Given the description of an element on the screen output the (x, y) to click on. 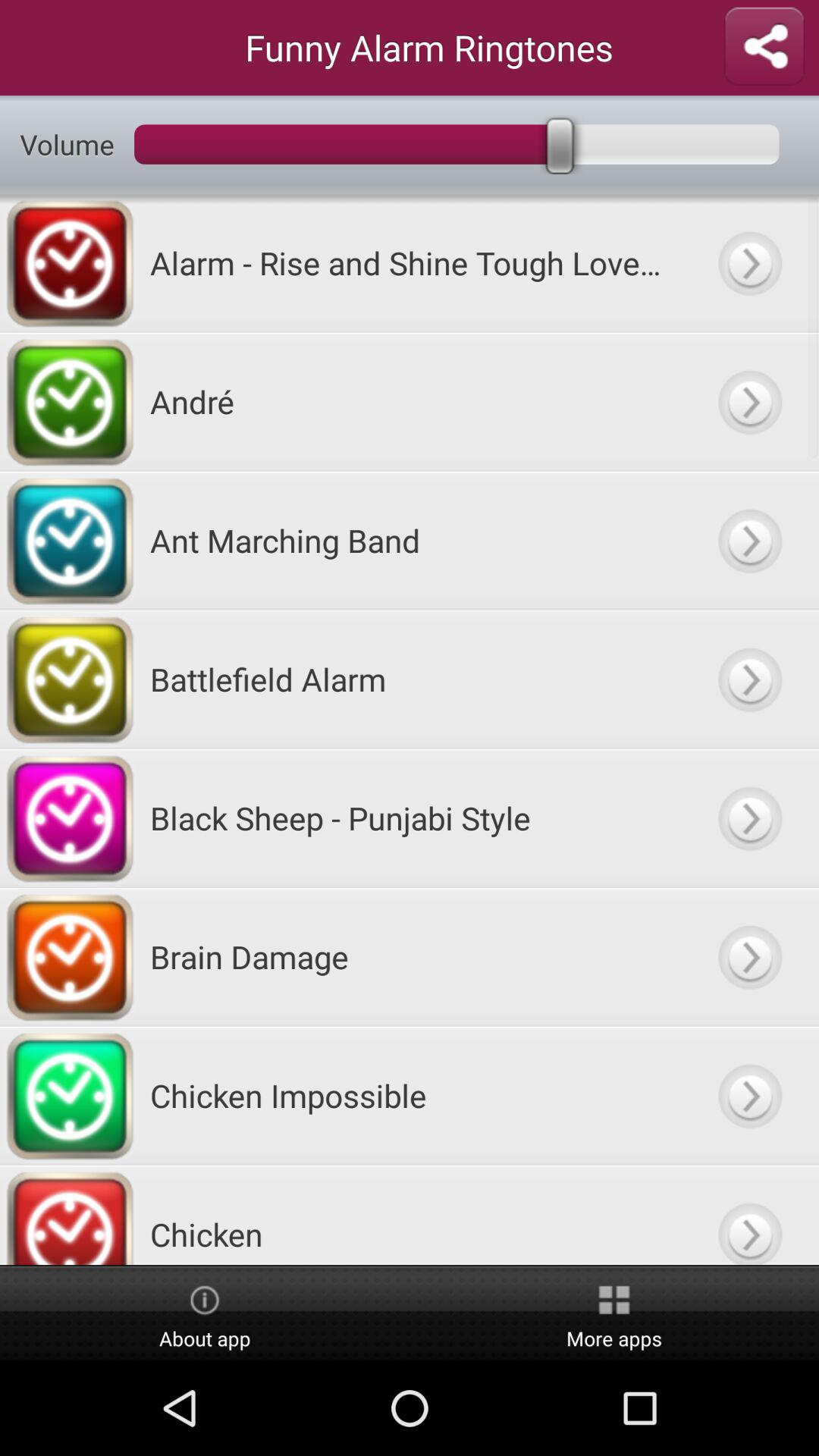
goto option (749, 818)
